Given the description of an element on the screen output the (x, y) to click on. 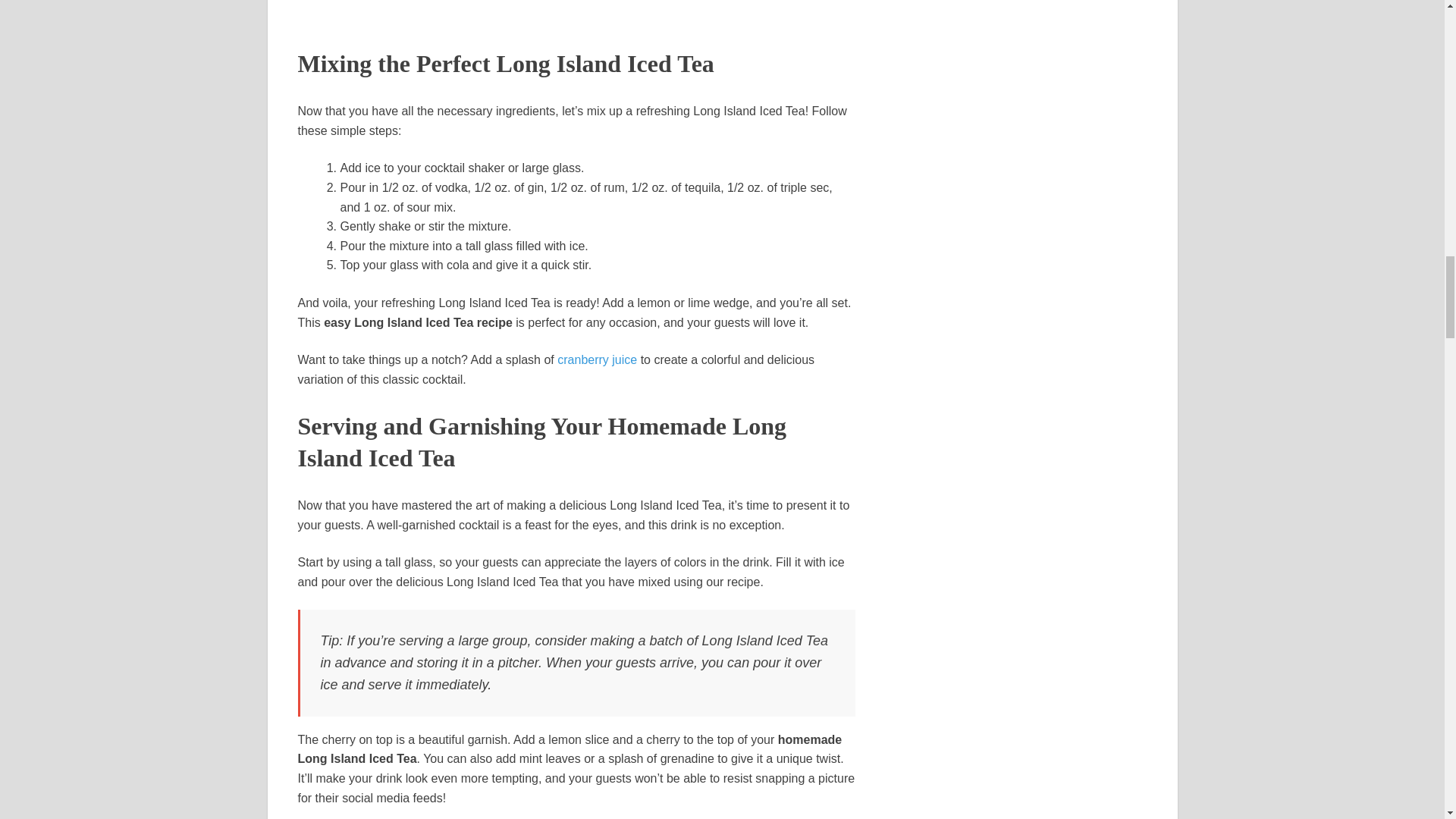
Long Island Iced Tea Cocktail Recipe - SO BOOZY!! (575, 10)
cranberry juice (597, 359)
